Given the description of an element on the screen output the (x, y) to click on. 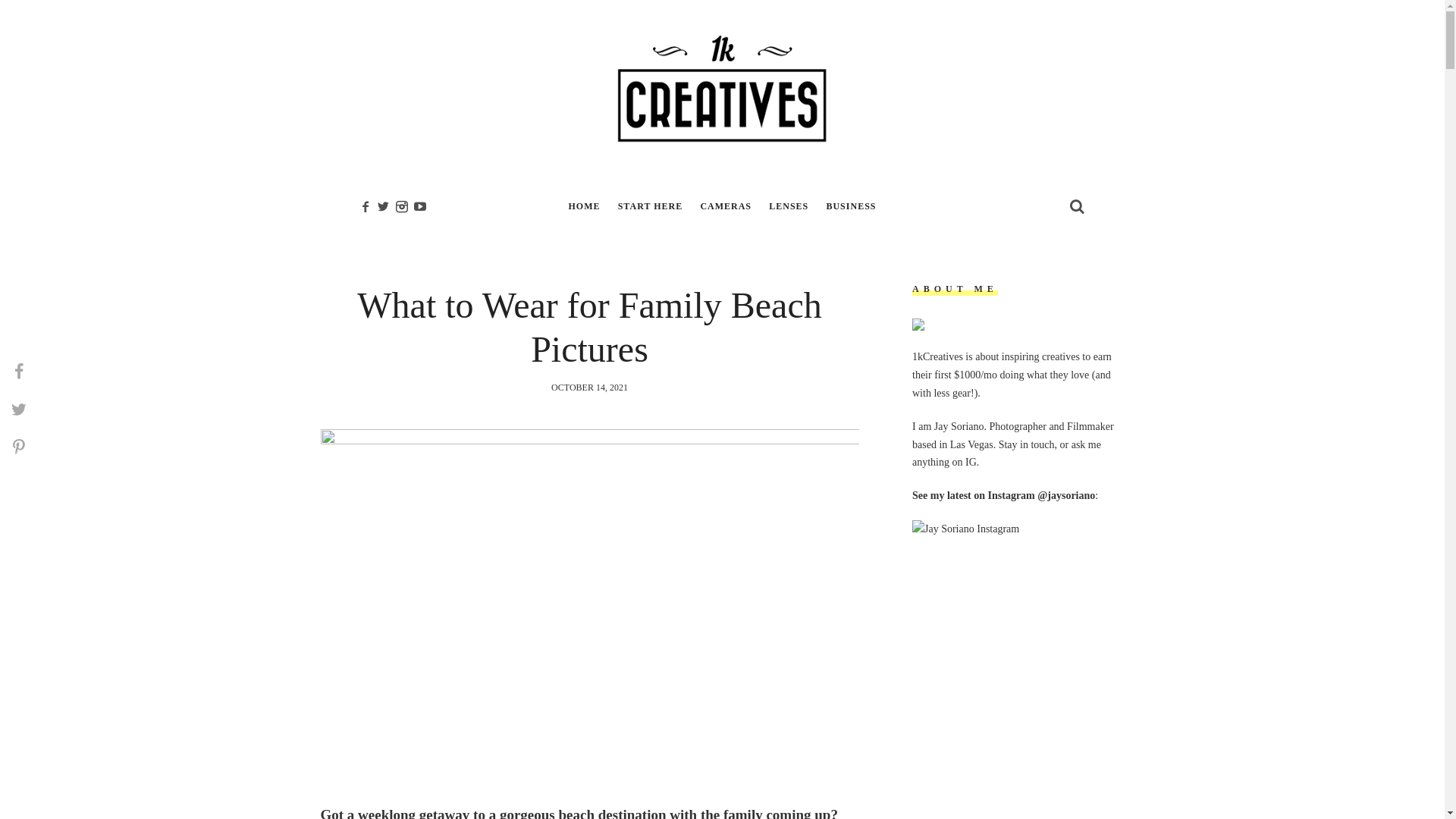
OCTOBER 14, 2021 Element type: text (589, 387)
Share on Twitter Element type: hover (18, 409)
1kCreatives Element type: text (722, 88)
CAMERAS Element type: text (725, 206)
Share on Facebook Element type: hover (18, 371)
HOME Element type: text (584, 206)
BUSINESS Element type: text (850, 206)
LENSES Element type: text (788, 206)
Save to Pinterest Element type: hover (18, 447)
START HERE Element type: text (650, 206)
